Given the description of an element on the screen output the (x, y) to click on. 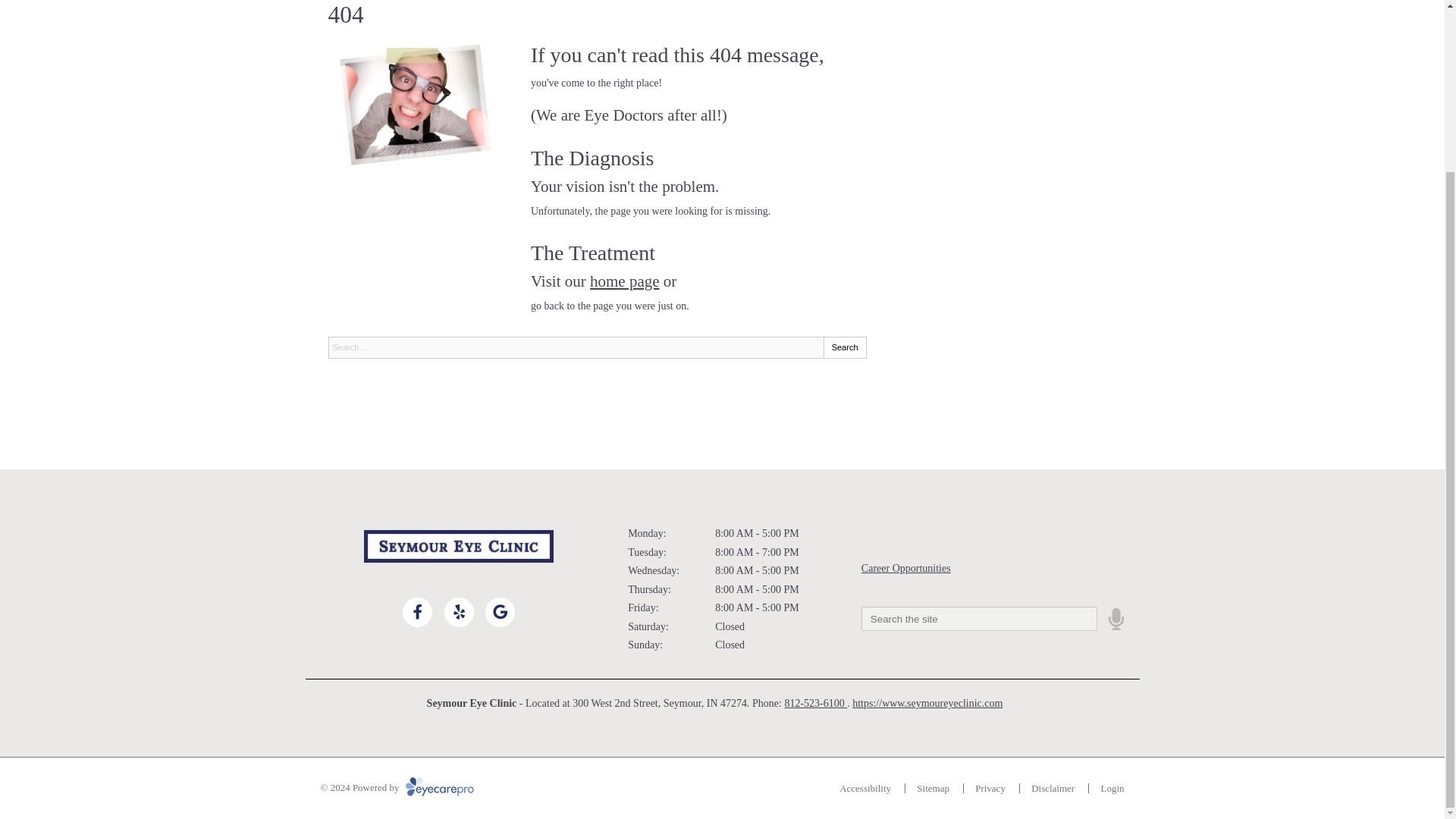
Speak Field (979, 618)
